Given the description of an element on the screen output the (x, y) to click on. 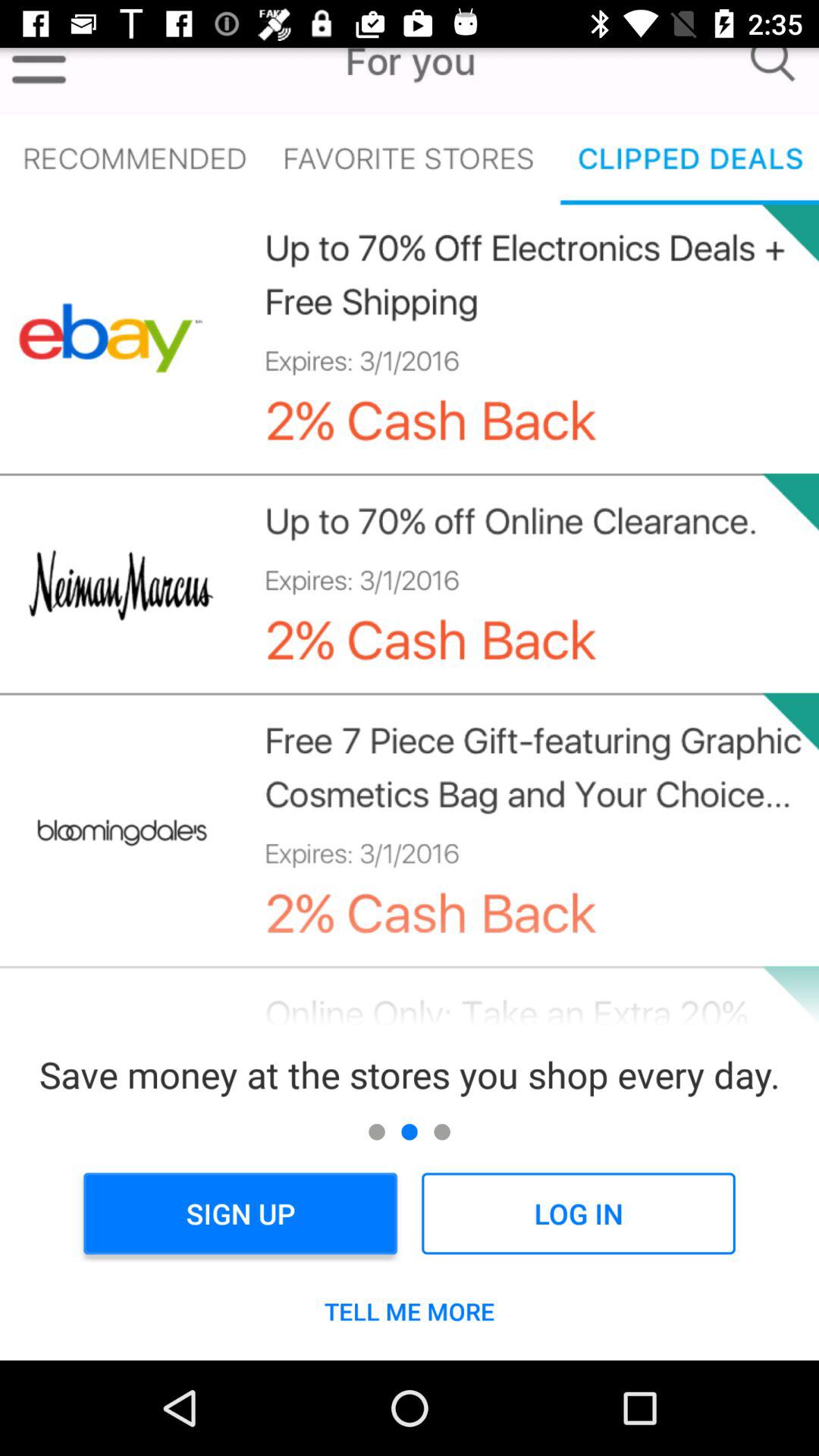
click icon above tell me more (578, 1213)
